Given the description of an element on the screen output the (x, y) to click on. 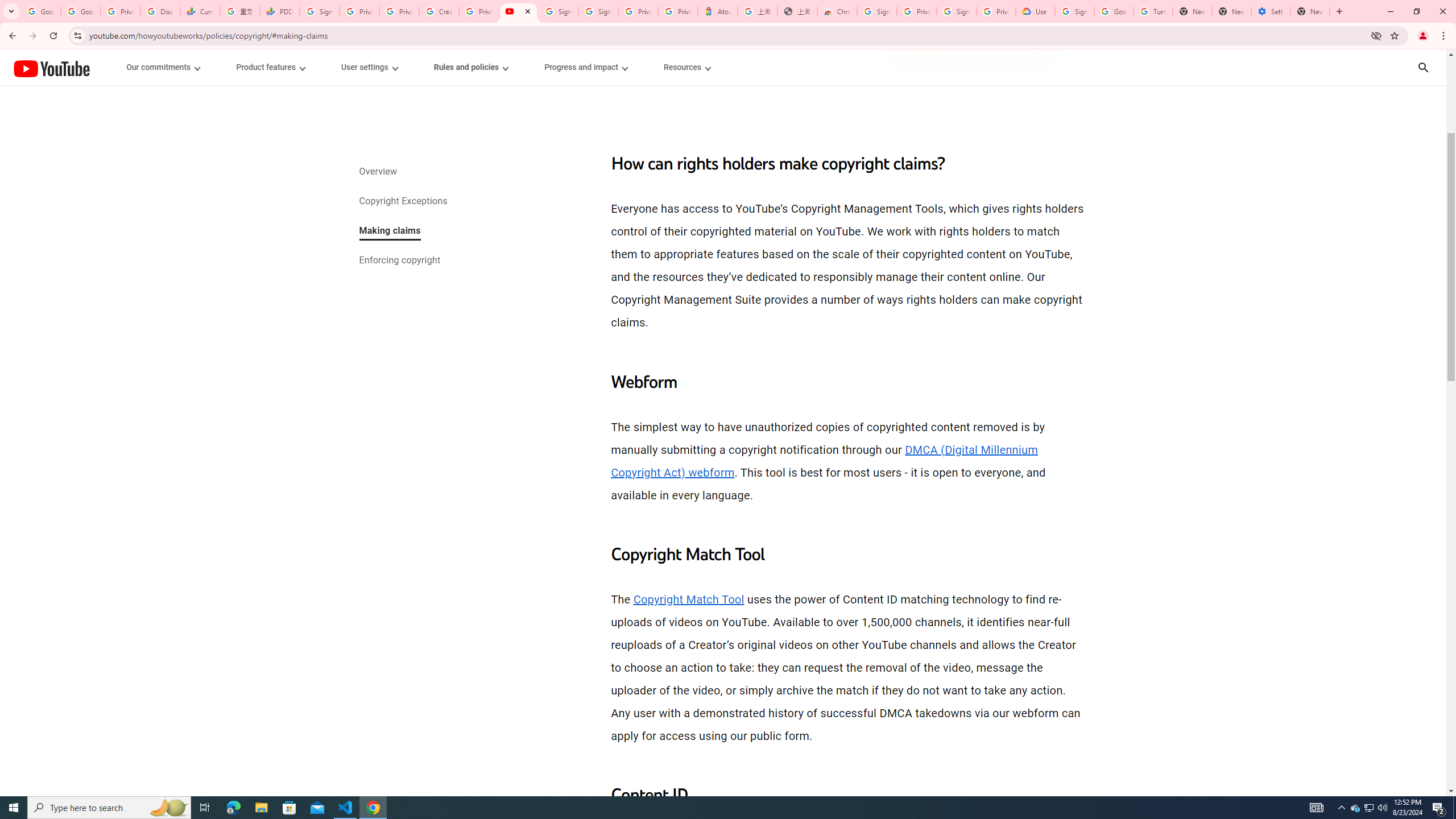
Making claims (389, 231)
Sign in - Google Accounts (1074, 11)
YouTube (51, 68)
Sign in - Google Accounts (598, 11)
Create your Google Account (438, 11)
YouTube Copyright Rules & Policies - How YouTube Works (518, 11)
Sign in - Google Accounts (876, 11)
JUMP TO CONTENT (118, 67)
